Given the description of an element on the screen output the (x, y) to click on. 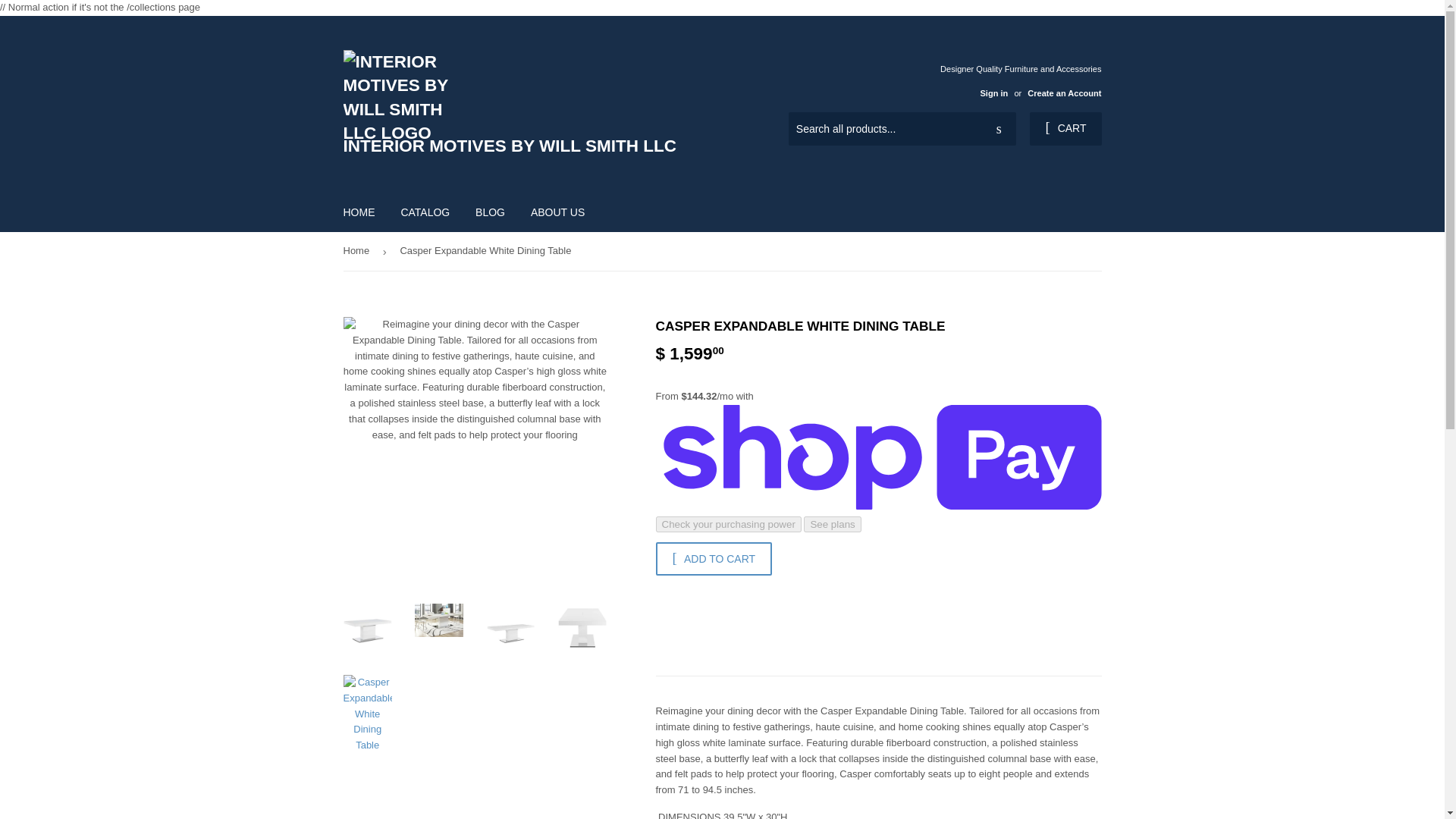
Sign in (993, 92)
ADD TO CART (713, 558)
INTERIOR MOTIVES BY WILL SMITH LLC (532, 103)
HOME (359, 211)
CATALOG (424, 211)
ABOUT US (557, 211)
Create an Account (1063, 92)
Search (998, 129)
BLOG (490, 211)
CART (1064, 128)
